Given the description of an element on the screen output the (x, y) to click on. 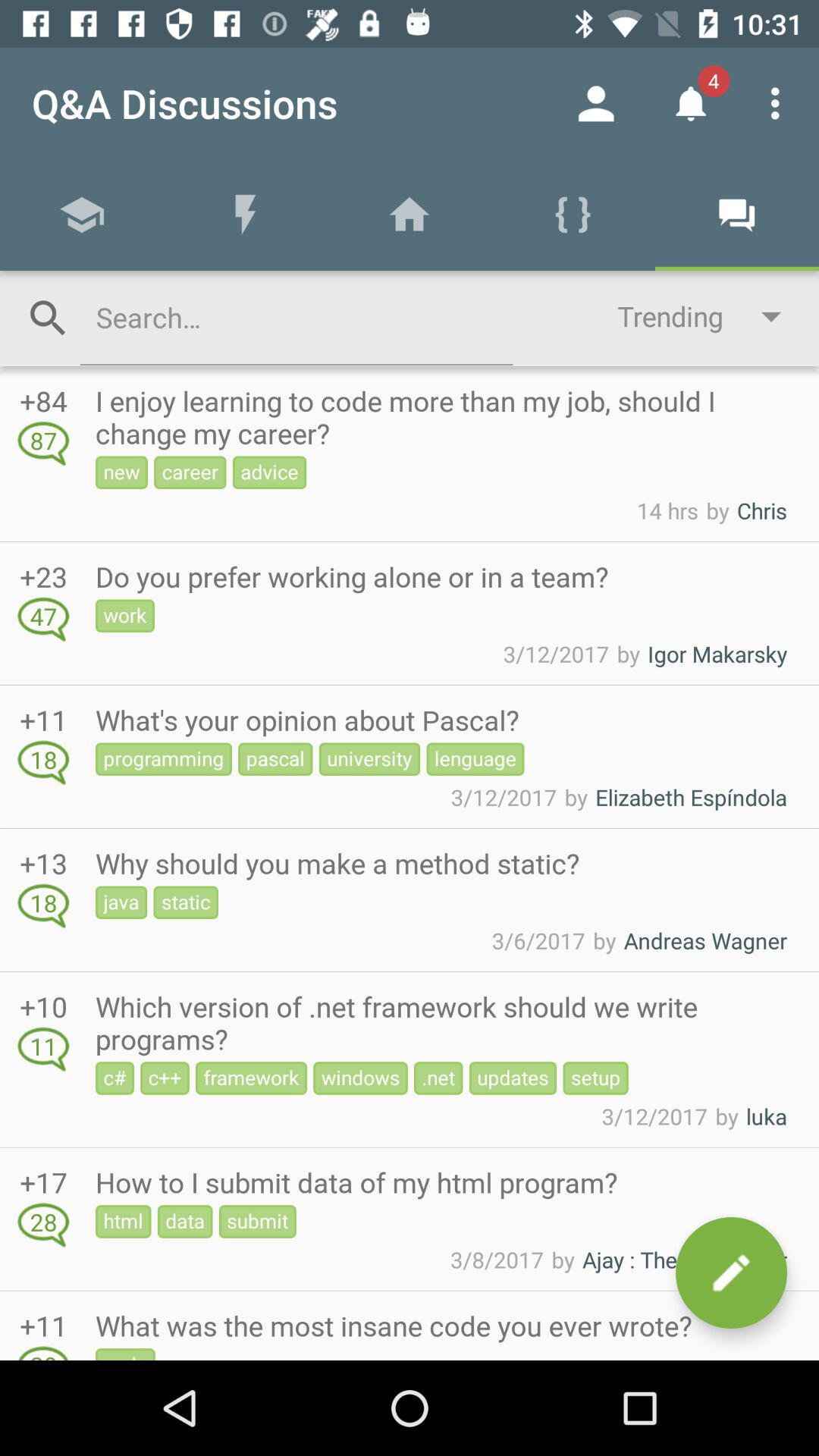
compose (731, 1272)
